Given the description of an element on the screen output the (x, y) to click on. 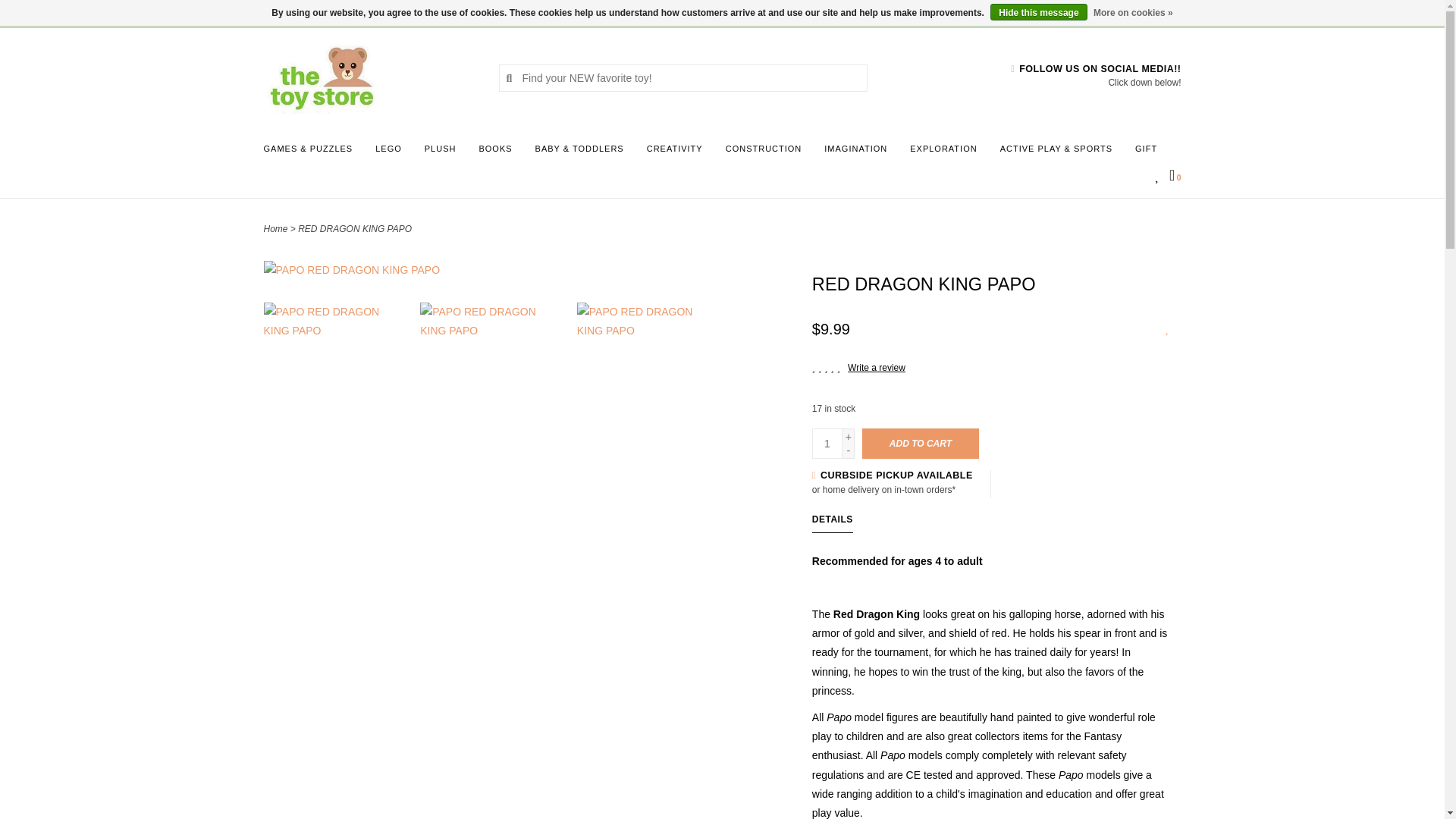
Contact us (341, 12)
1 (827, 443)
Currency (282, 12)
Login (390, 12)
My account (390, 12)
THE TOY STORE (369, 77)
Locations (1152, 12)
LEGO (392, 152)
